Given the description of an element on the screen output the (x, y) to click on. 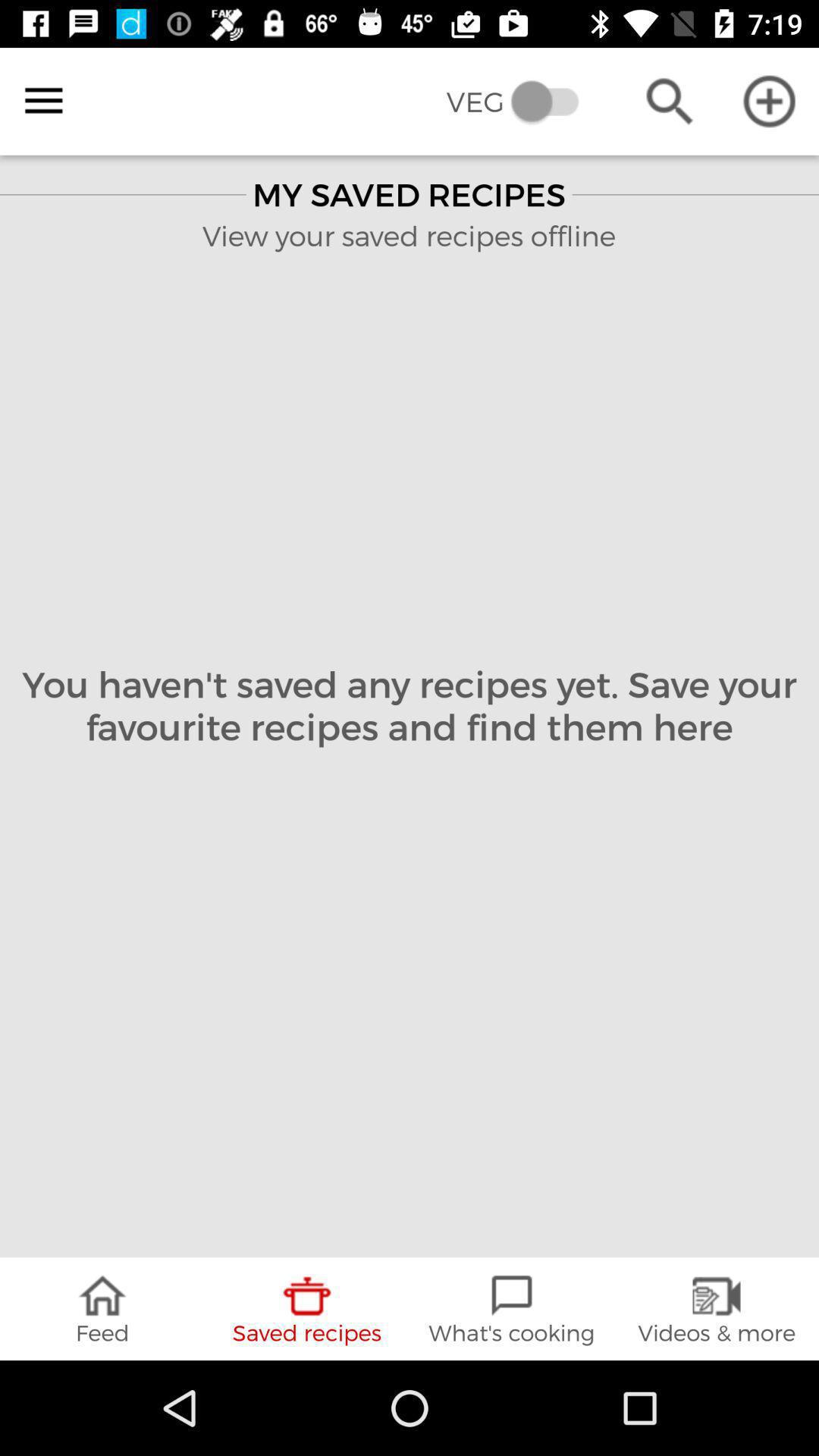
turn on the icon next to veg (43, 101)
